Given the description of an element on the screen output the (x, y) to click on. 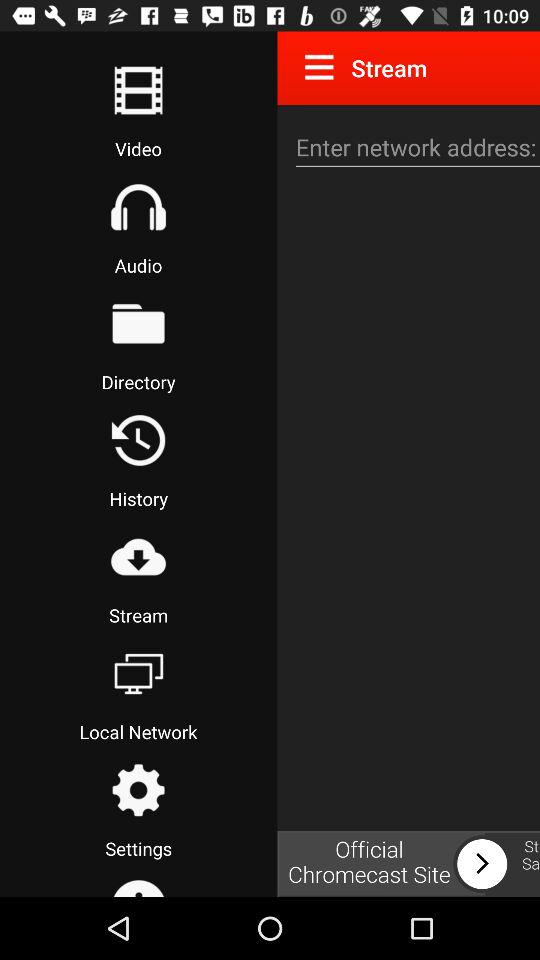
downloads (138, 557)
